Given the description of an element on the screen output the (x, y) to click on. 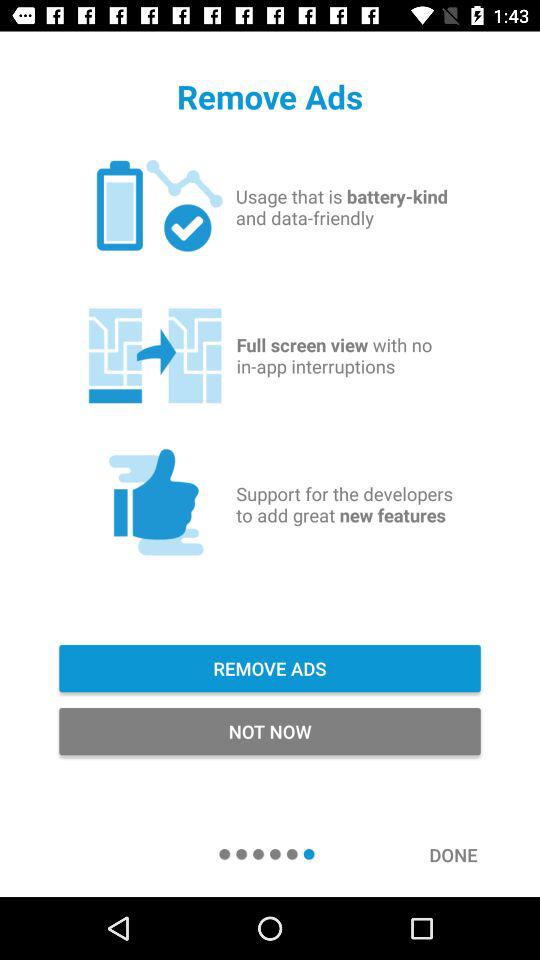
press item above done item (269, 731)
